Given the description of an element on the screen output the (x, y) to click on. 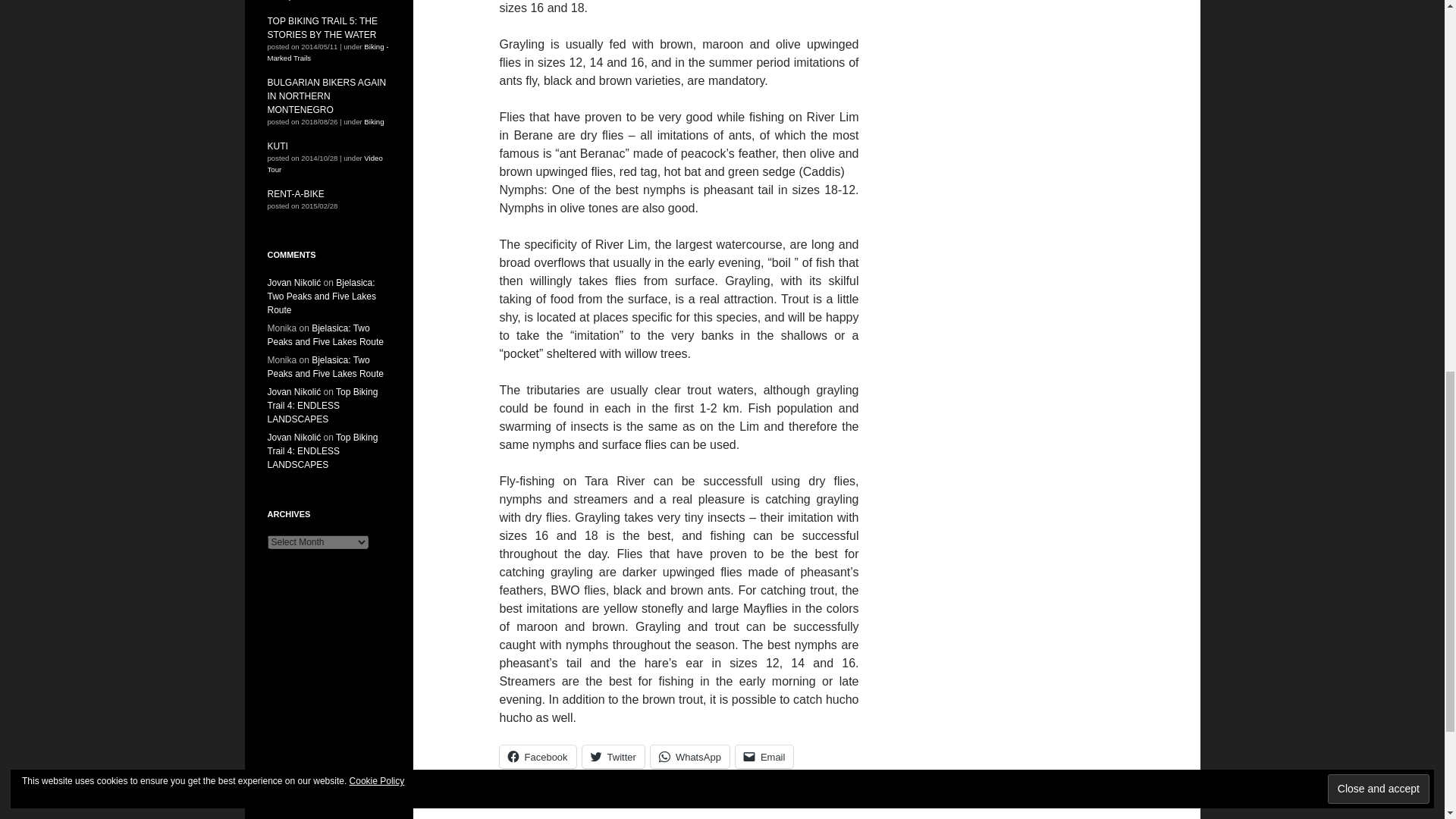
Click to share on Facebook (537, 756)
Click to email a link to a friend (764, 756)
Click to share on WhatsApp (689, 756)
Click to share on Twitter (613, 756)
